Given the description of an element on the screen output the (x, y) to click on. 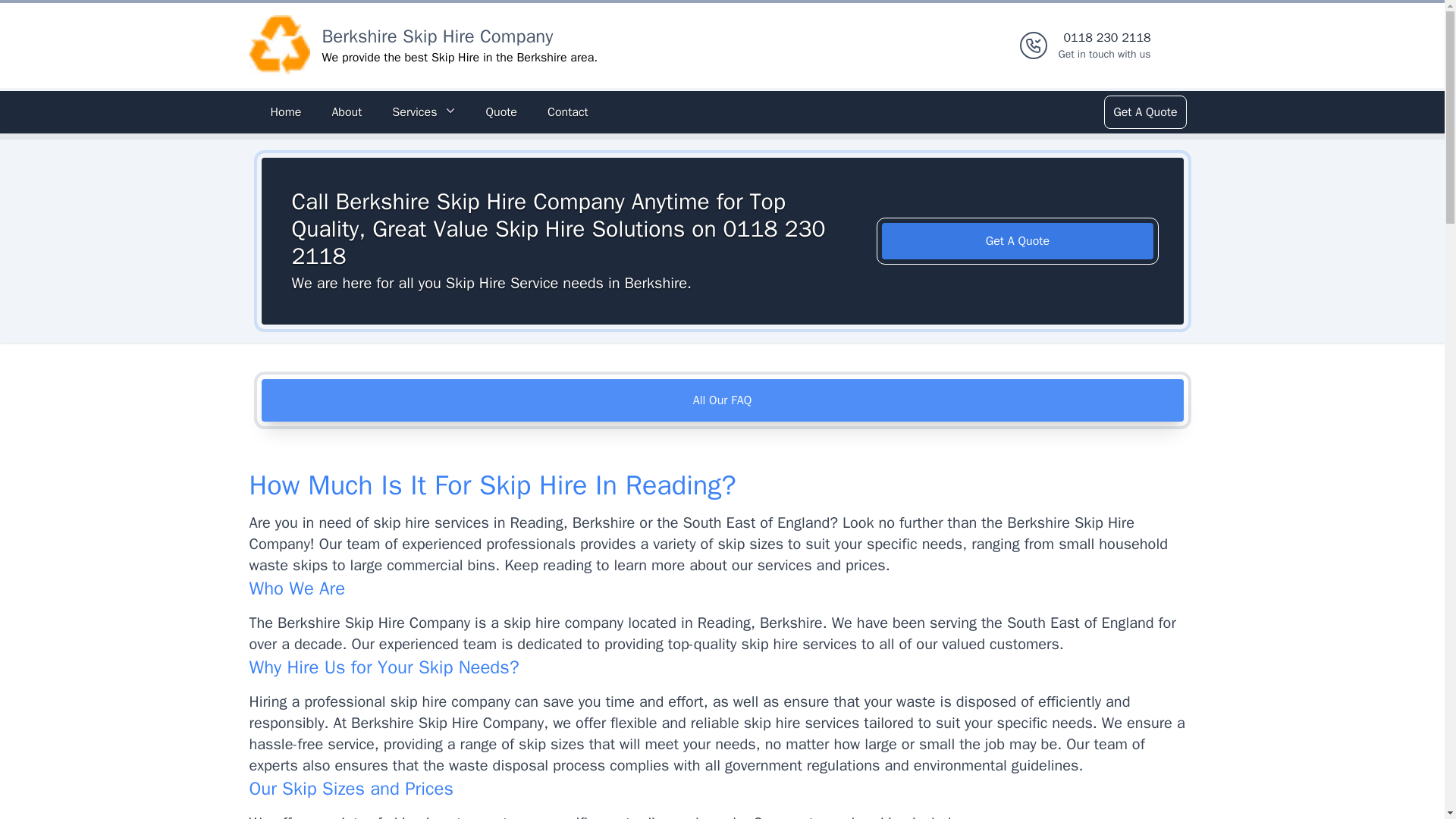
Get A Quote (1017, 240)
Home (285, 112)
Berkshire Skip Hire Company (437, 36)
Get A Quote (1104, 45)
All Our FAQ (1144, 112)
Quote (721, 400)
Contact (500, 112)
Services (567, 112)
Logo (423, 112)
About (278, 45)
